Given the description of an element on the screen output the (x, y) to click on. 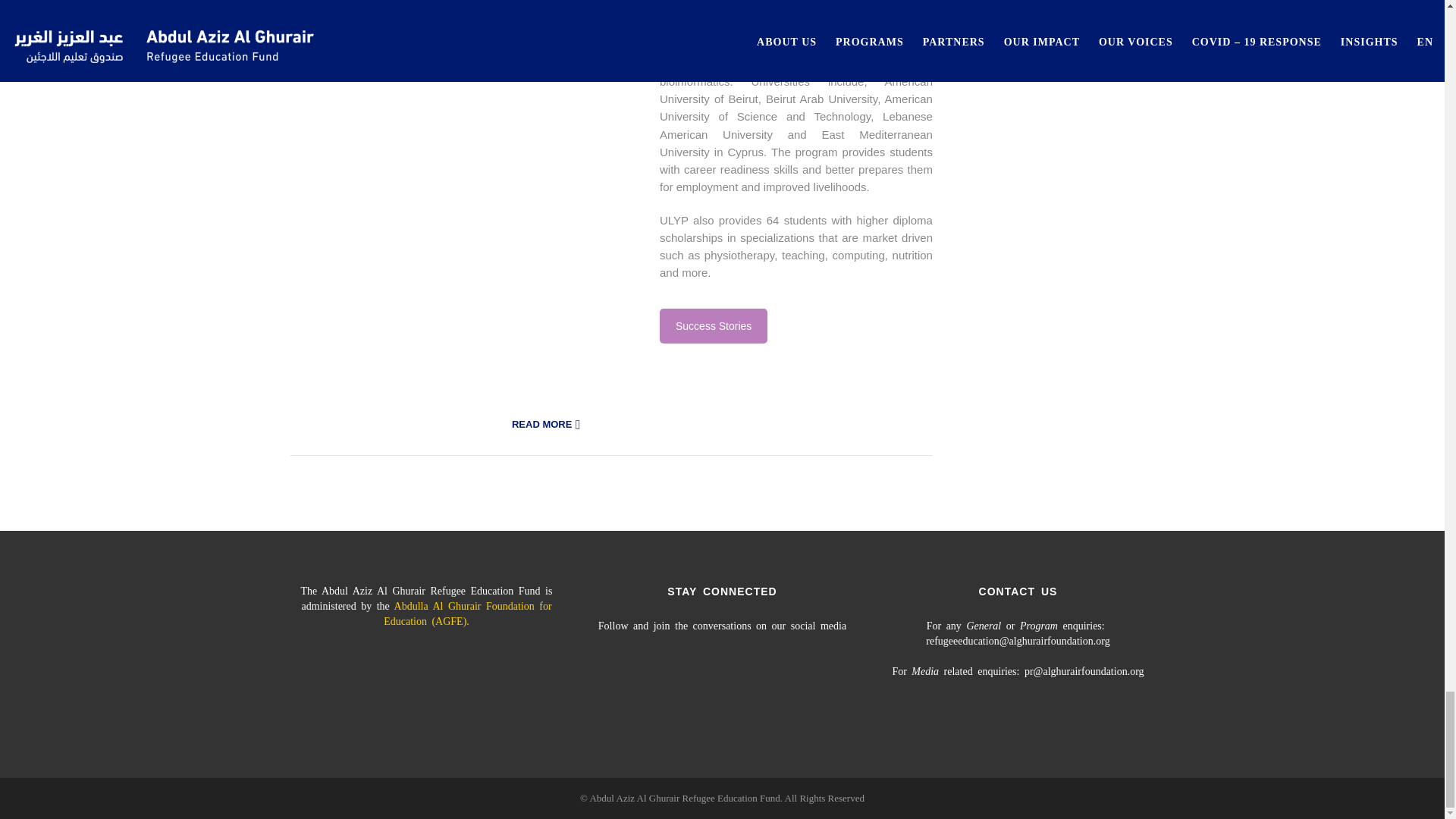
Success Stories (713, 325)
